Given the description of an element on the screen output the (x, y) to click on. 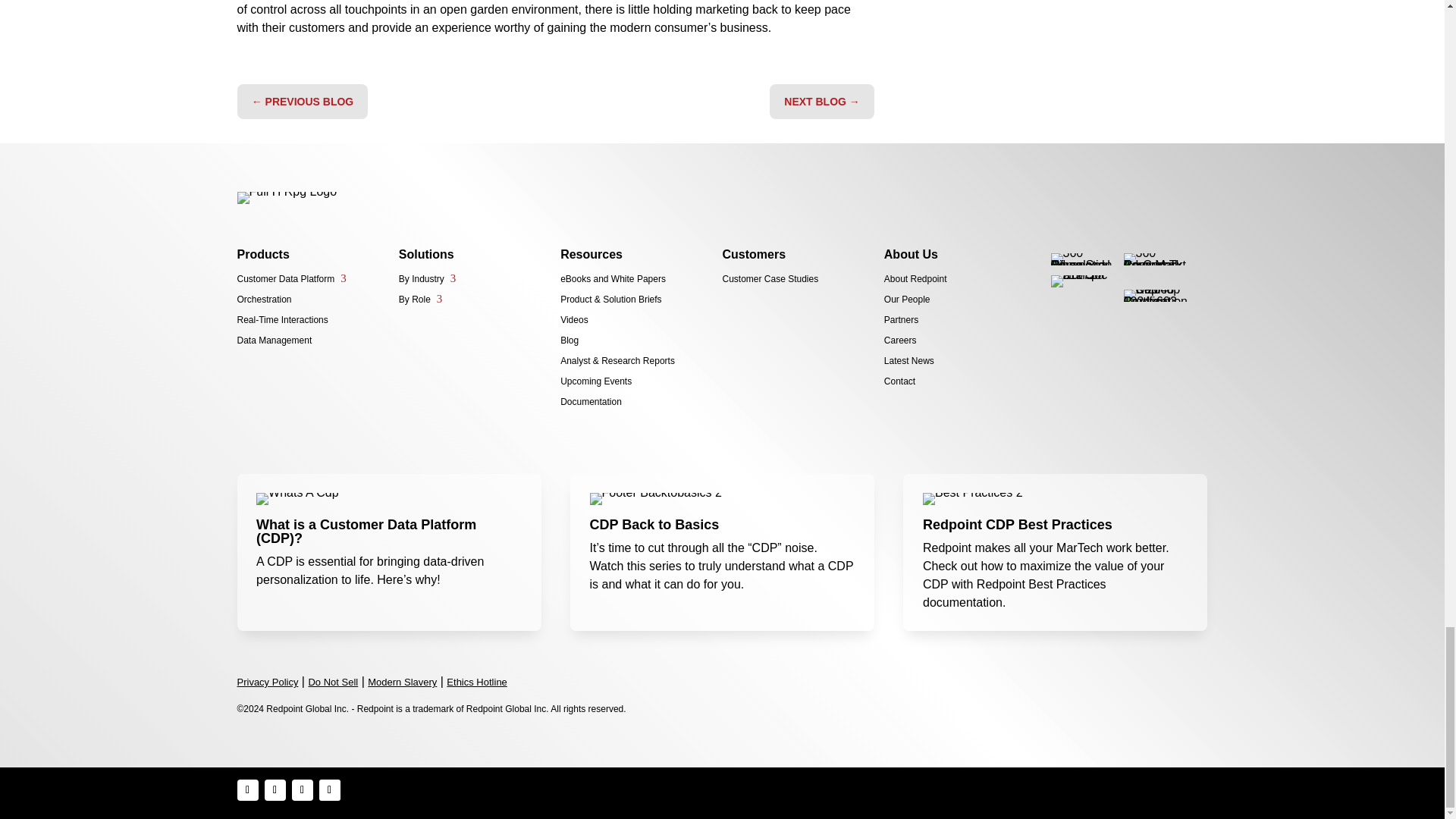
Dl2048 Cdpi Realcdp Certification Program 1024x603 (1155, 295)
Best Practices 2 (973, 499)
Follow on Youtube (328, 789)
Footer Backtobasics 2 (655, 499)
21972 312 Soc Noncpa (1082, 281)
360 Advanced Hipaa Seal Of Completion 2 (1082, 259)
Follow on X (274, 789)
Whats A Cdp (297, 499)
Follow on LinkedIn (302, 789)
Follow on Facebook (246, 789)
